Given the description of an element on the screen output the (x, y) to click on. 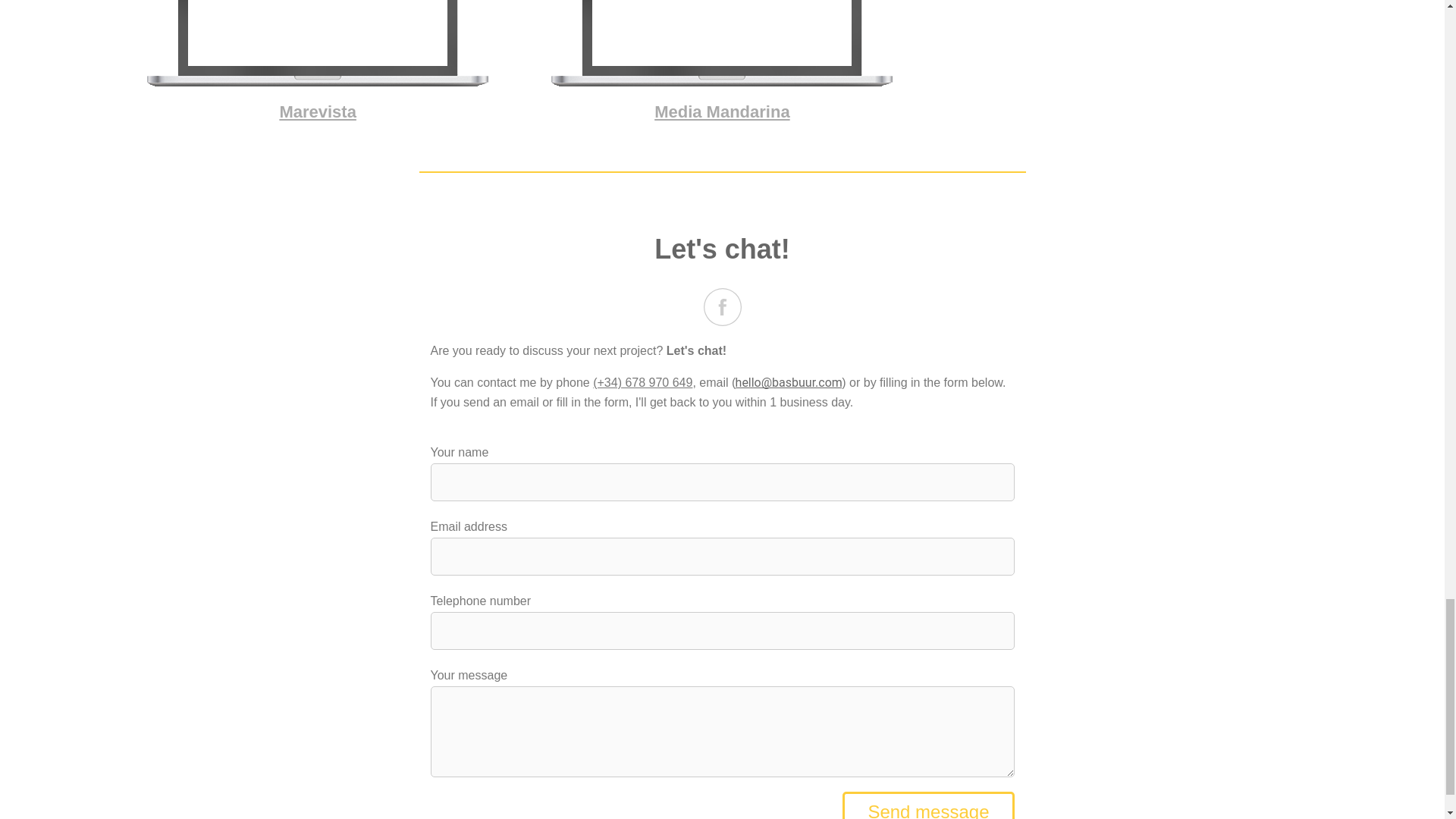
Send message (928, 805)
Media Mandarina (721, 112)
Marevista (318, 112)
